Given the description of an element on the screen output the (x, y) to click on. 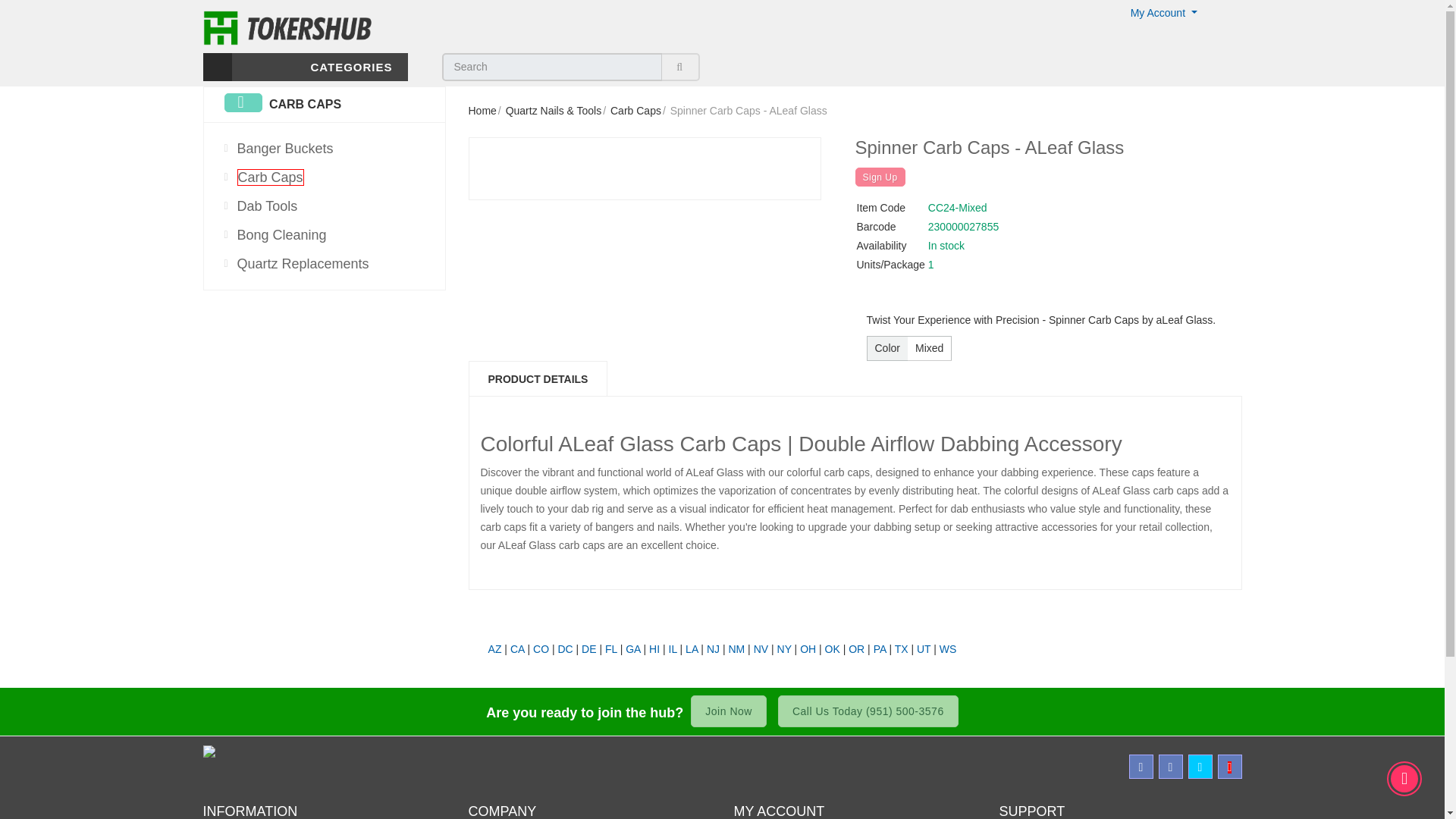
Facebook (1140, 766)
Youtube (1229, 766)
My Account (1163, 12)
Twitter (1199, 766)
